Given the description of an element on the screen output the (x, y) to click on. 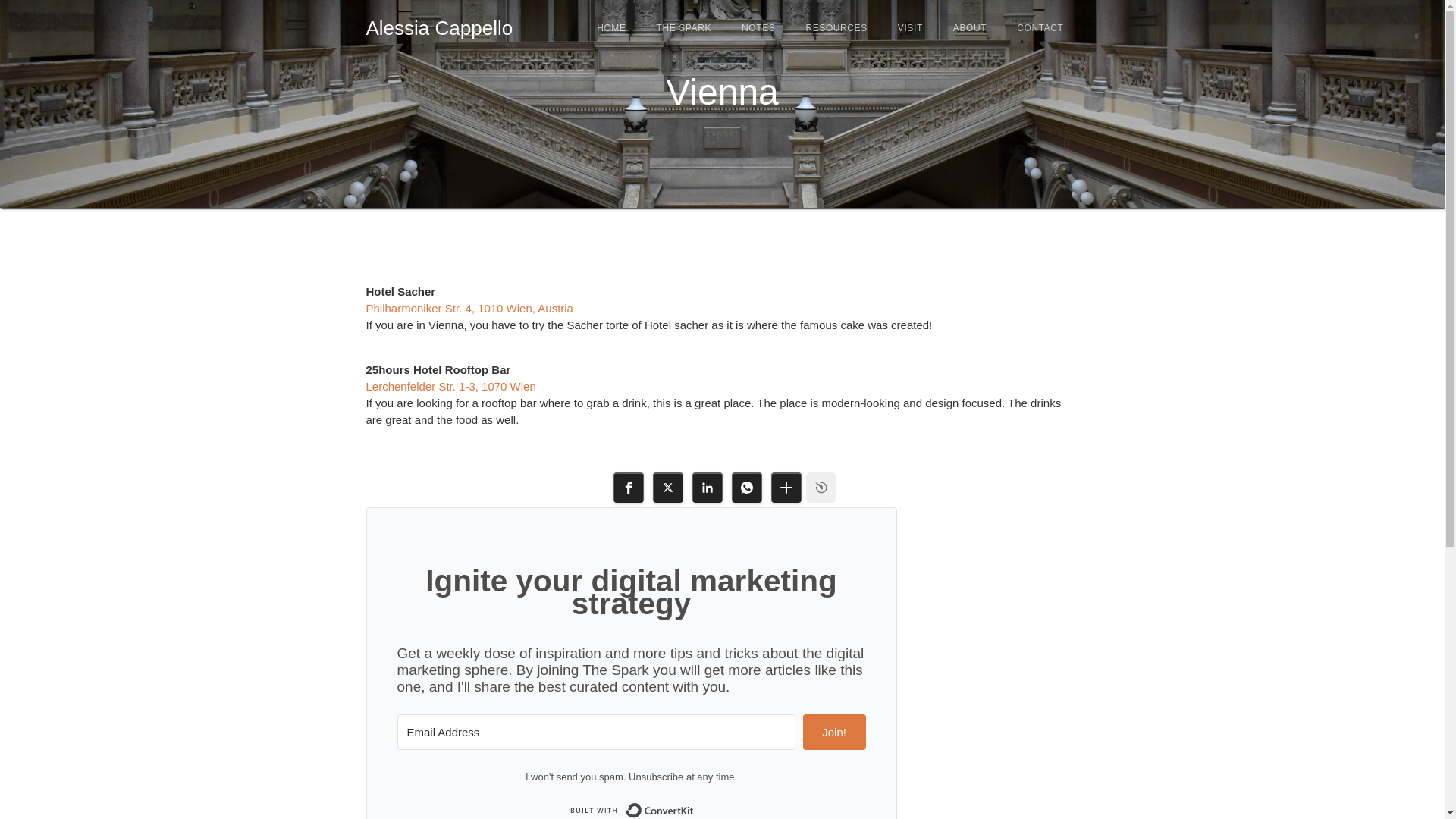
CONTACT (1039, 28)
More (785, 487)
Built with ConvertKit (631, 807)
Twitter (667, 487)
Alessia Cappello (438, 25)
RESOURCES (836, 28)
ABOUT (969, 28)
Free Social Share Buttons widget (820, 487)
VISIT (909, 28)
Lerchenfelder Str. 1-3, 1070 Wien (450, 386)
Facebook (627, 487)
Join! (834, 732)
THE SPARK (684, 28)
LinkedIn (706, 487)
HOME (610, 28)
